Given the description of an element on the screen output the (x, y) to click on. 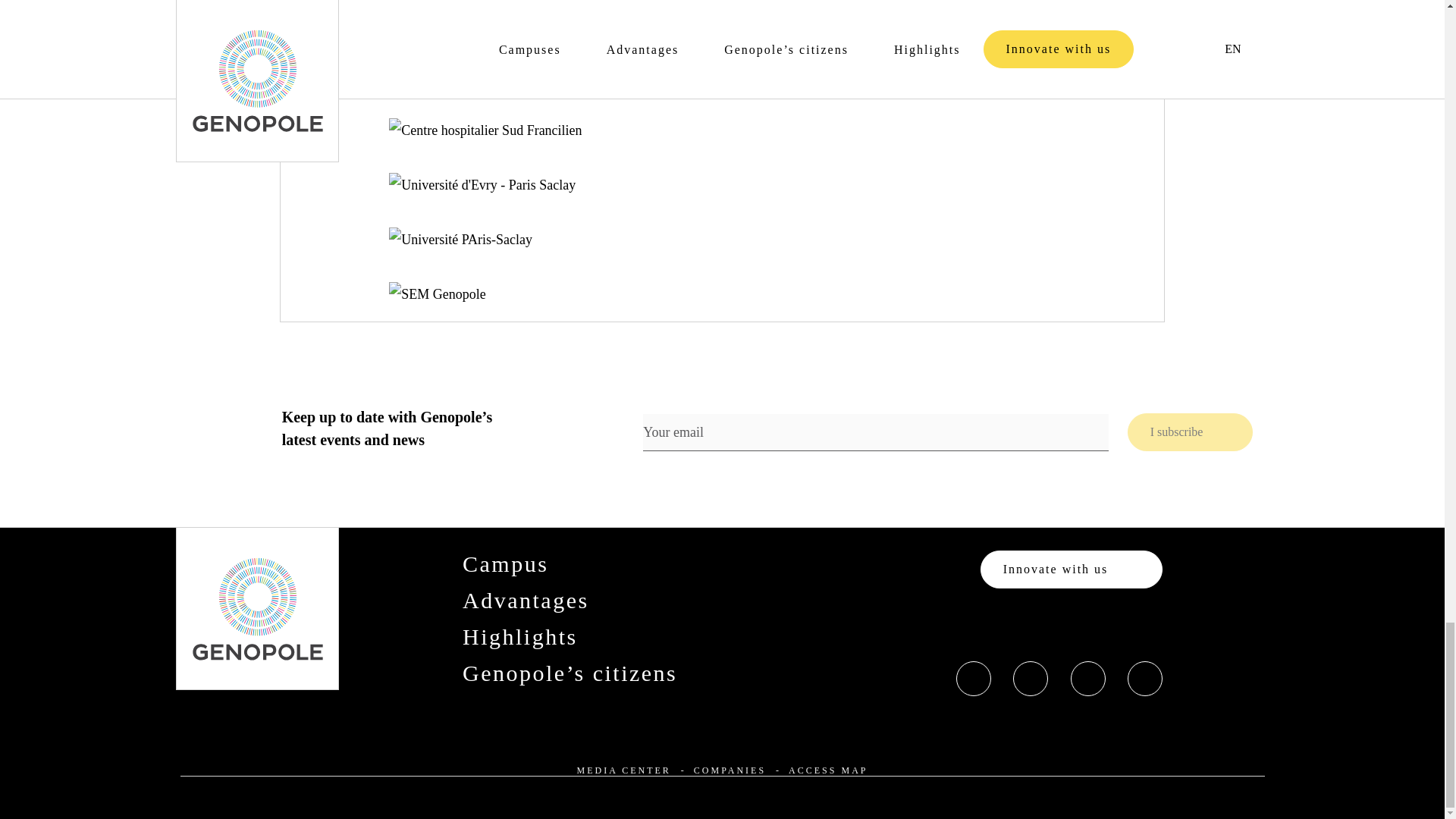
I subscribe (1189, 432)
